Given the description of an element on the screen output the (x, y) to click on. 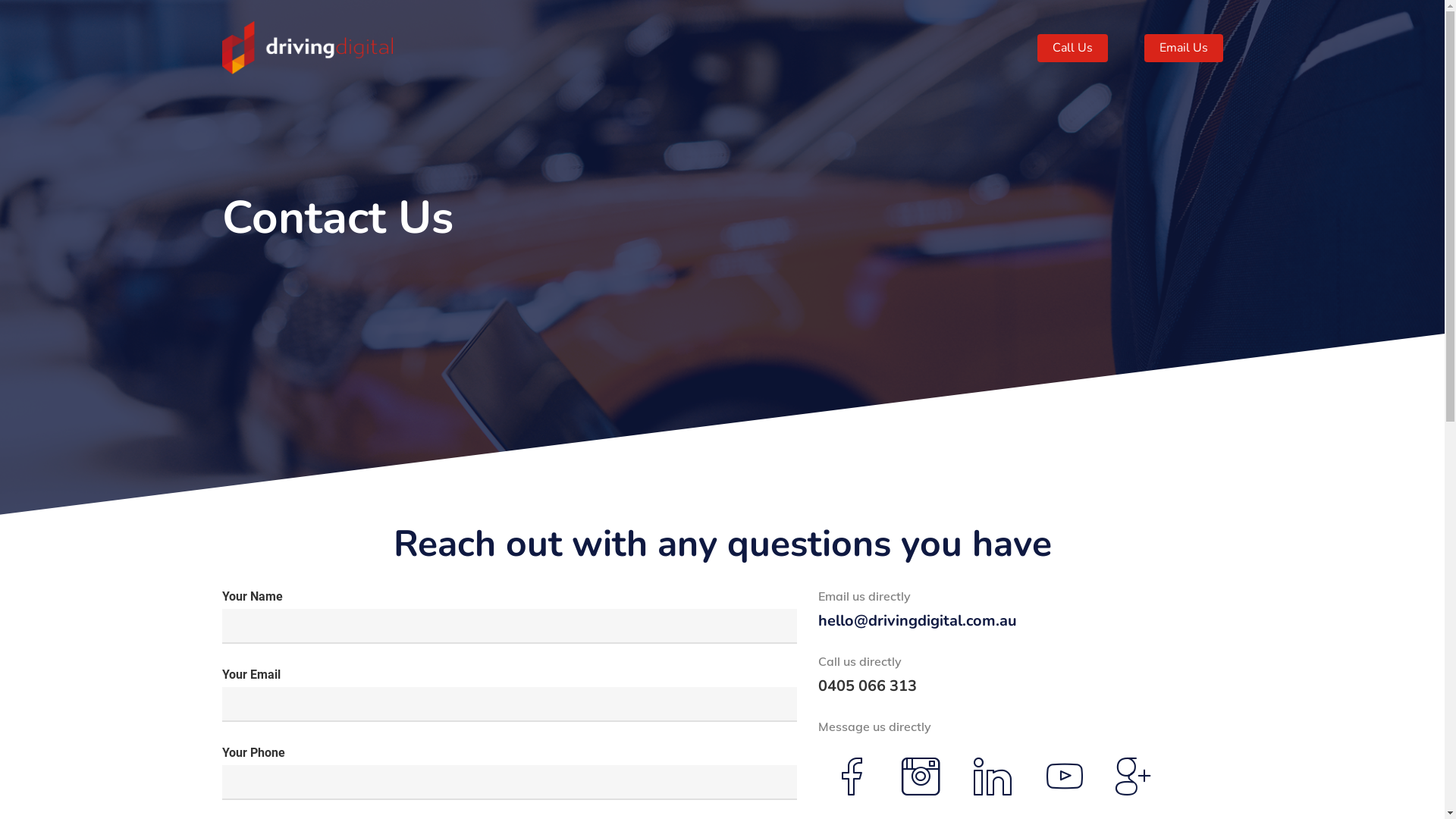
Call Us Element type: text (1072, 47)
hello@drivingdigital.com.au Element type: text (917, 620)
Email Us Element type: text (1182, 47)
